Given the description of an element on the screen output the (x, y) to click on. 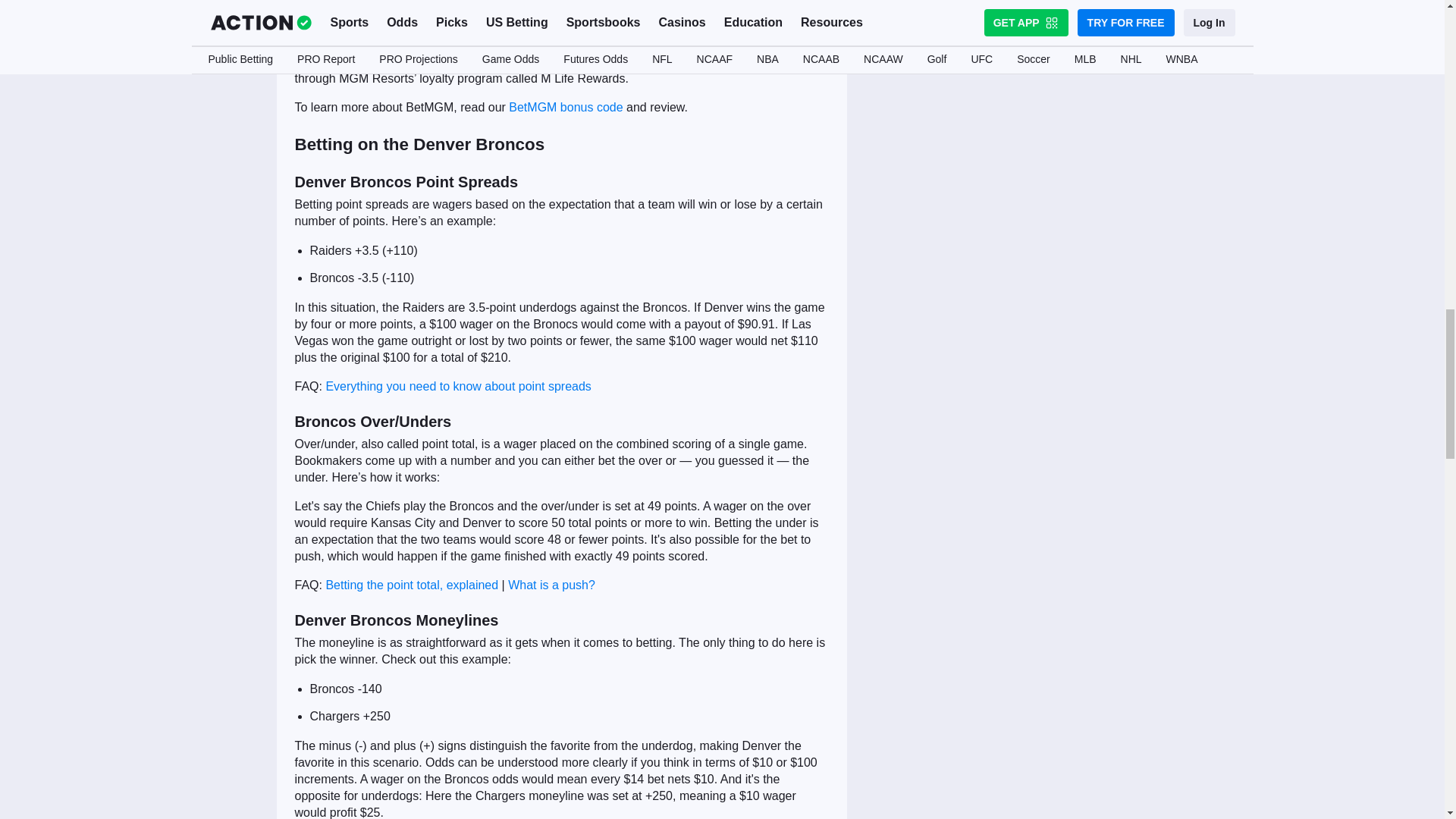
What is a push? (551, 584)
Everything you need to know about point spreads (457, 386)
Betting the point total, explained (410, 584)
BetMGM bonus code (565, 106)
